Given the description of an element on the screen output the (x, y) to click on. 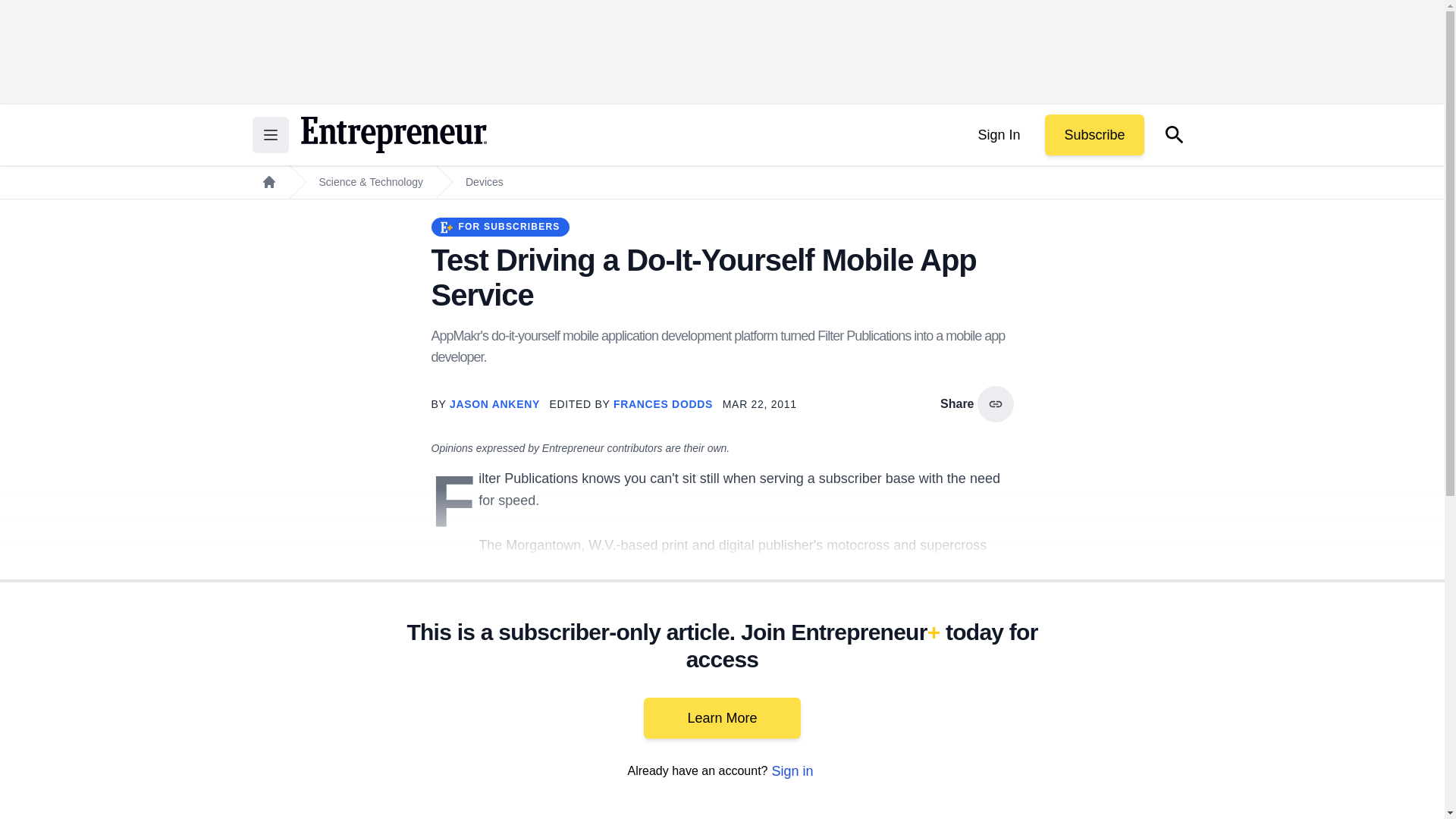
Subscribe (1093, 134)
Return to the home page (392, 135)
Sign In (998, 134)
copy (994, 403)
